Given the description of an element on the screen output the (x, y) to click on. 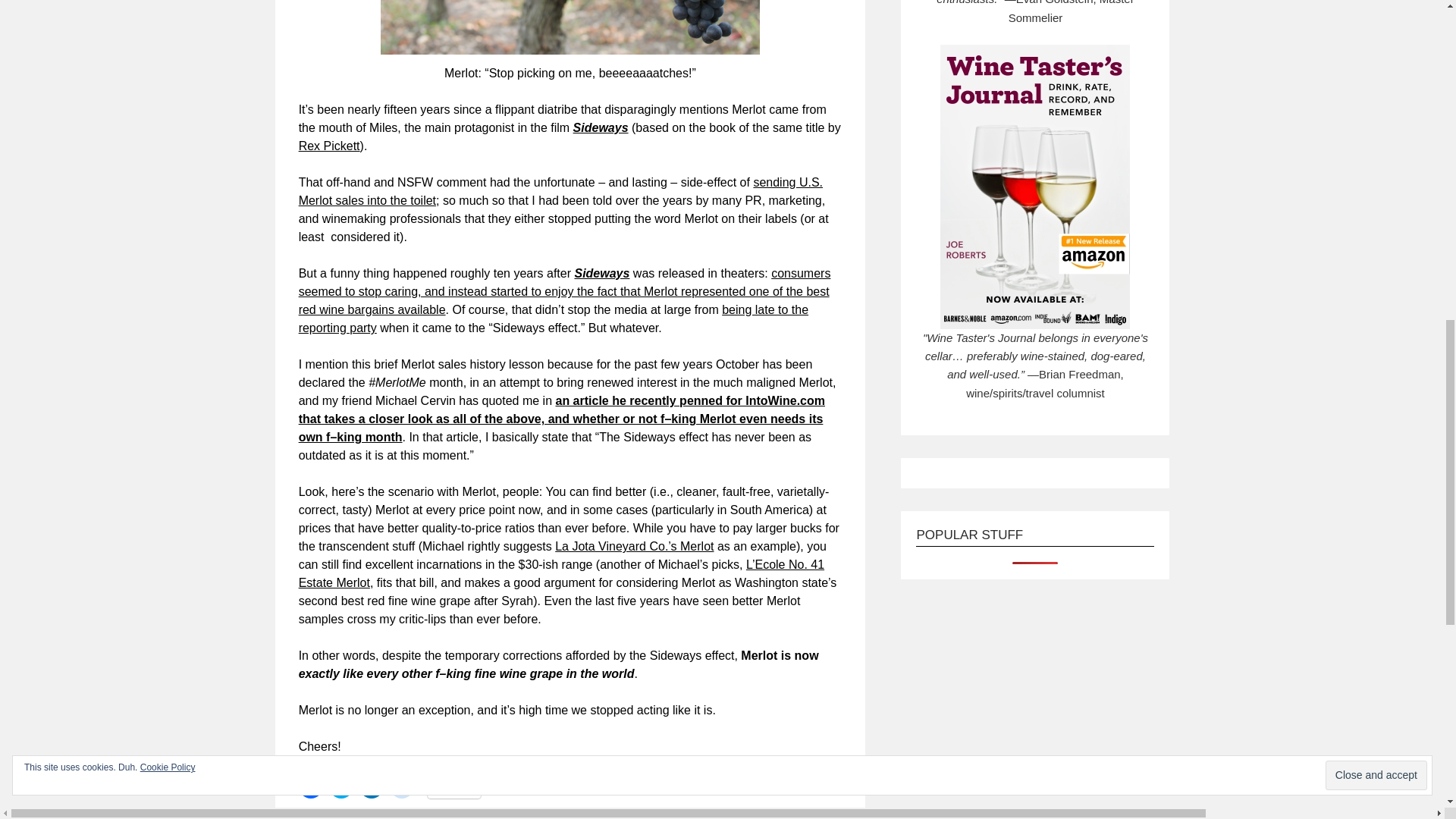
Click to share on LinkedIn (371, 785)
Rex Pickett (328, 145)
Click to share on Twitter (341, 785)
Click to share on Facebook (310, 785)
Sideways (600, 273)
Click to share on Reddit (401, 785)
sending U.S. Merlot sales into the toilet (560, 191)
Sideways (600, 127)
